Given the description of an element on the screen output the (x, y) to click on. 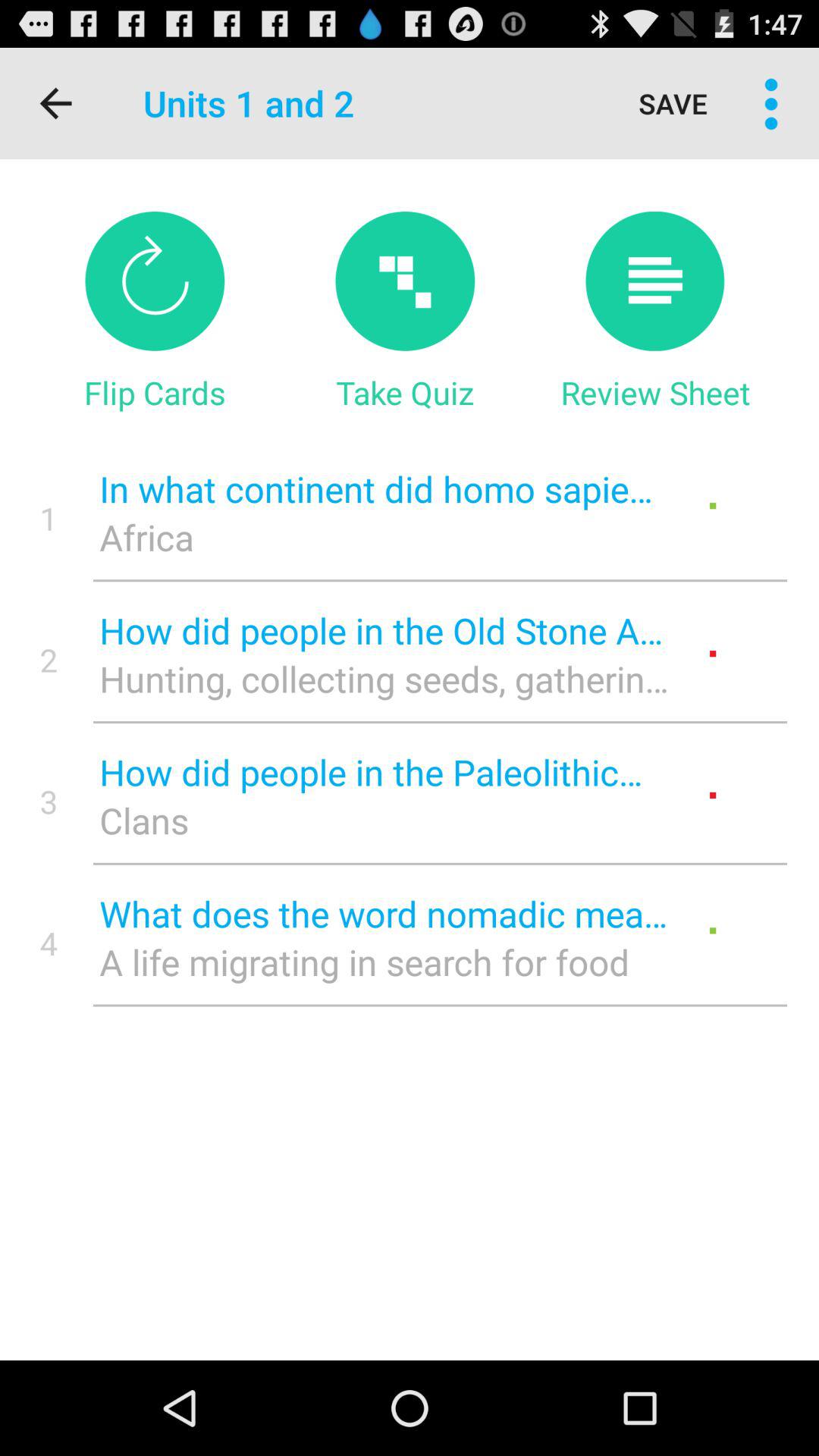
tap the item next to the 1 (384, 537)
